Given the description of an element on the screen output the (x, y) to click on. 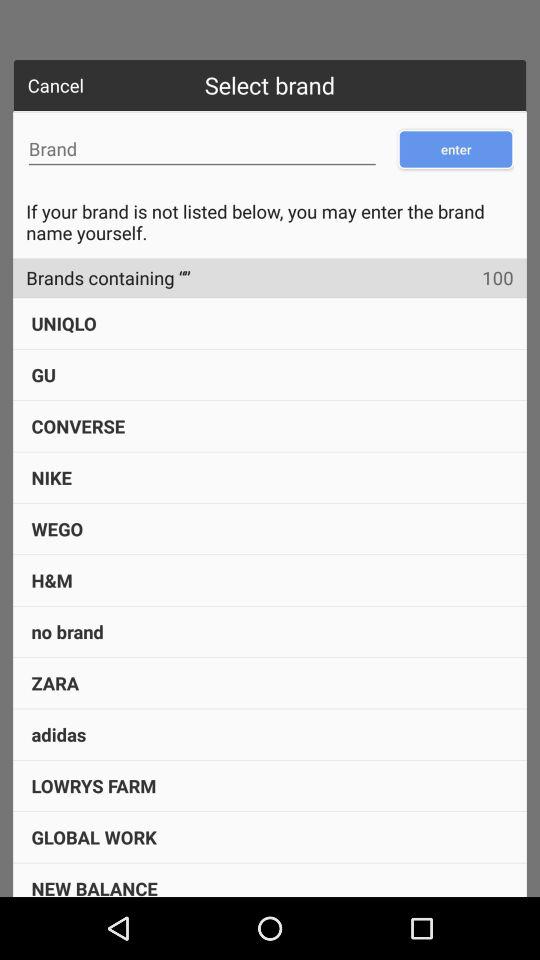
turn off the item above converse (43, 374)
